Given the description of an element on the screen output the (x, y) to click on. 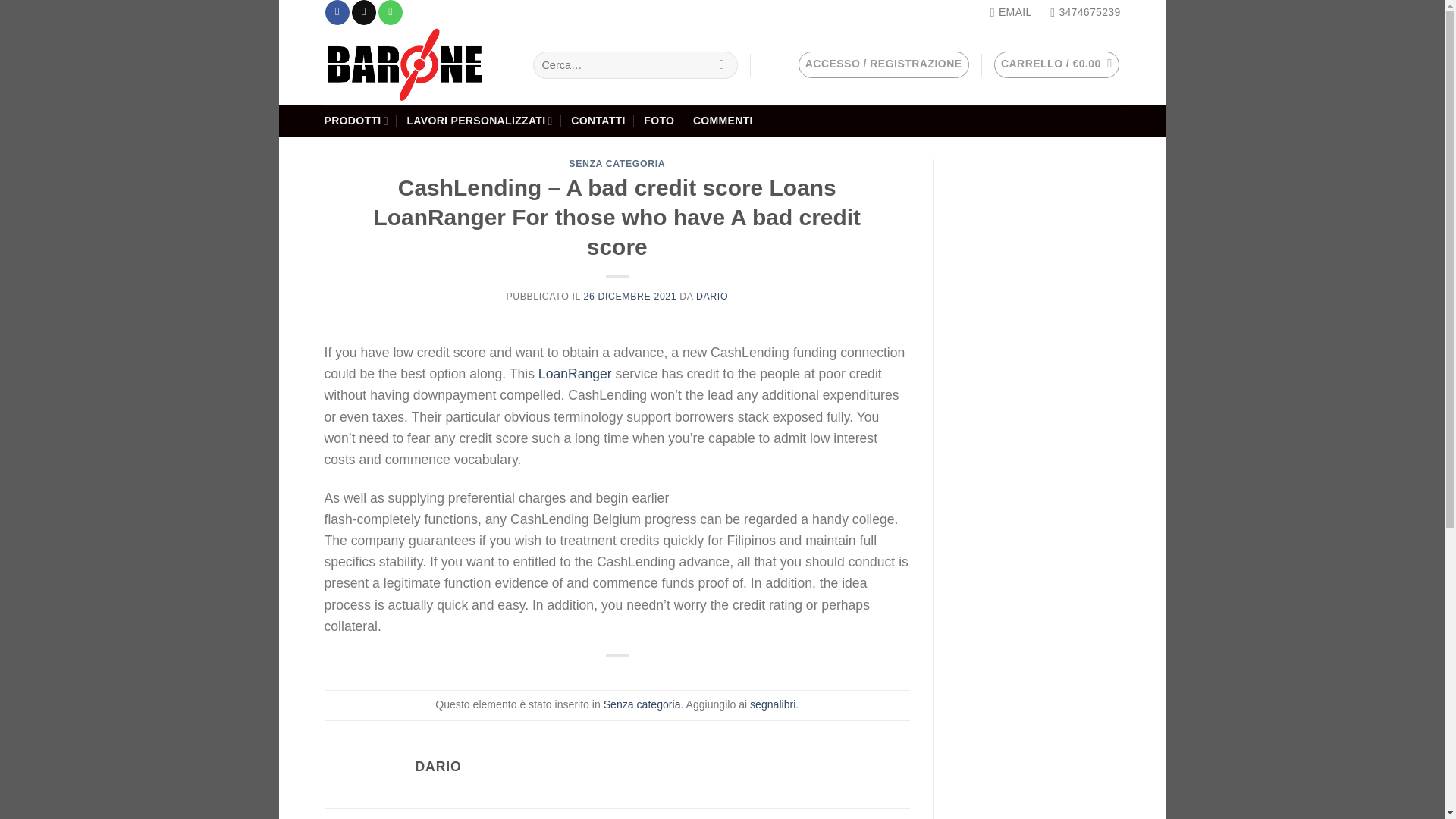
LoanRanger (574, 373)
CONTATTI (597, 120)
COMMENTI (722, 120)
FOTO (658, 120)
Senza categoria (642, 704)
PRODOTTI (356, 120)
SENZA CATEGORIA (617, 163)
DARIO (711, 296)
segnalibri (771, 704)
